Given the description of an element on the screen output the (x, y) to click on. 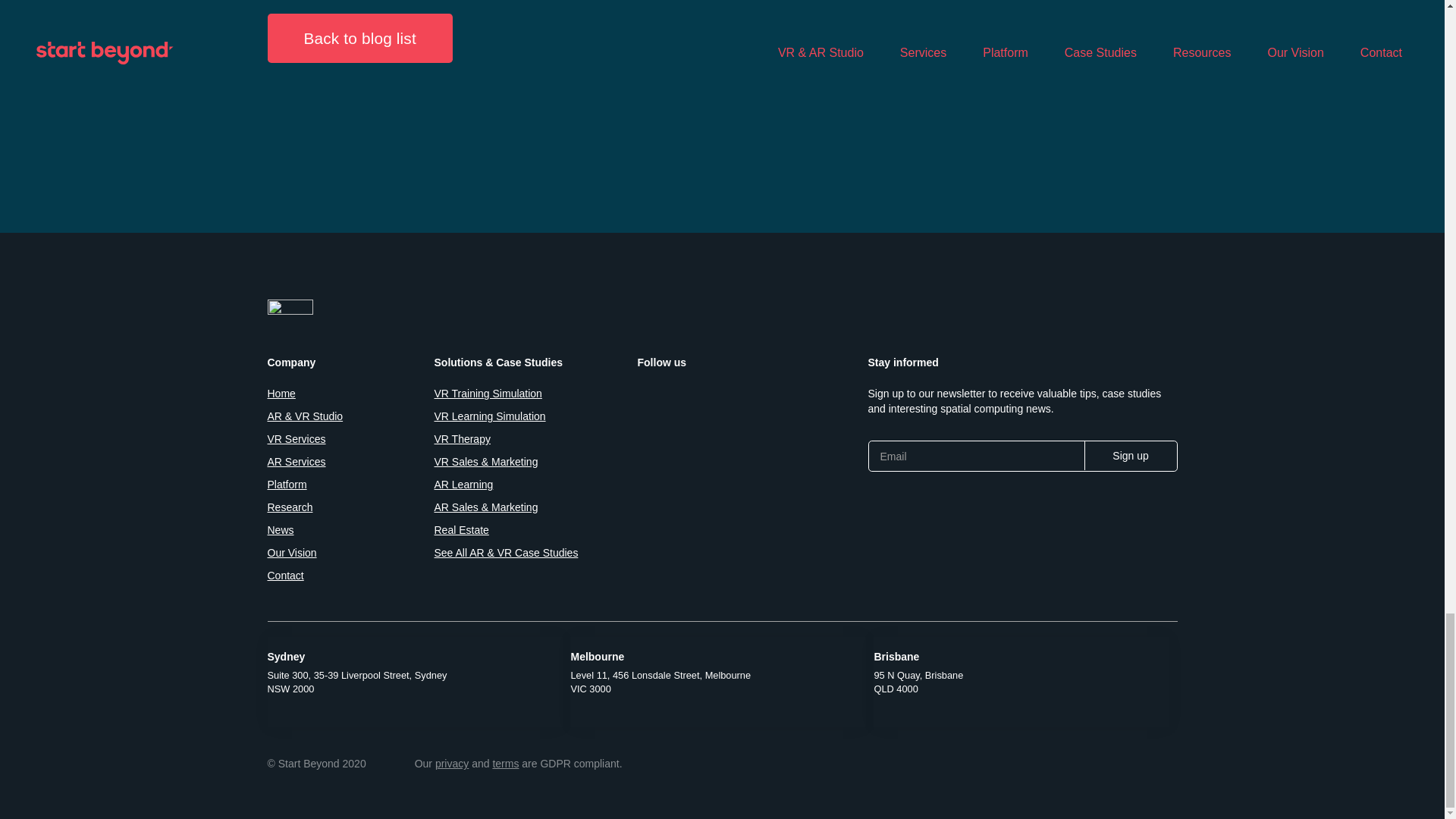
Sign up (1130, 455)
